Given the description of an element on the screen output the (x, y) to click on. 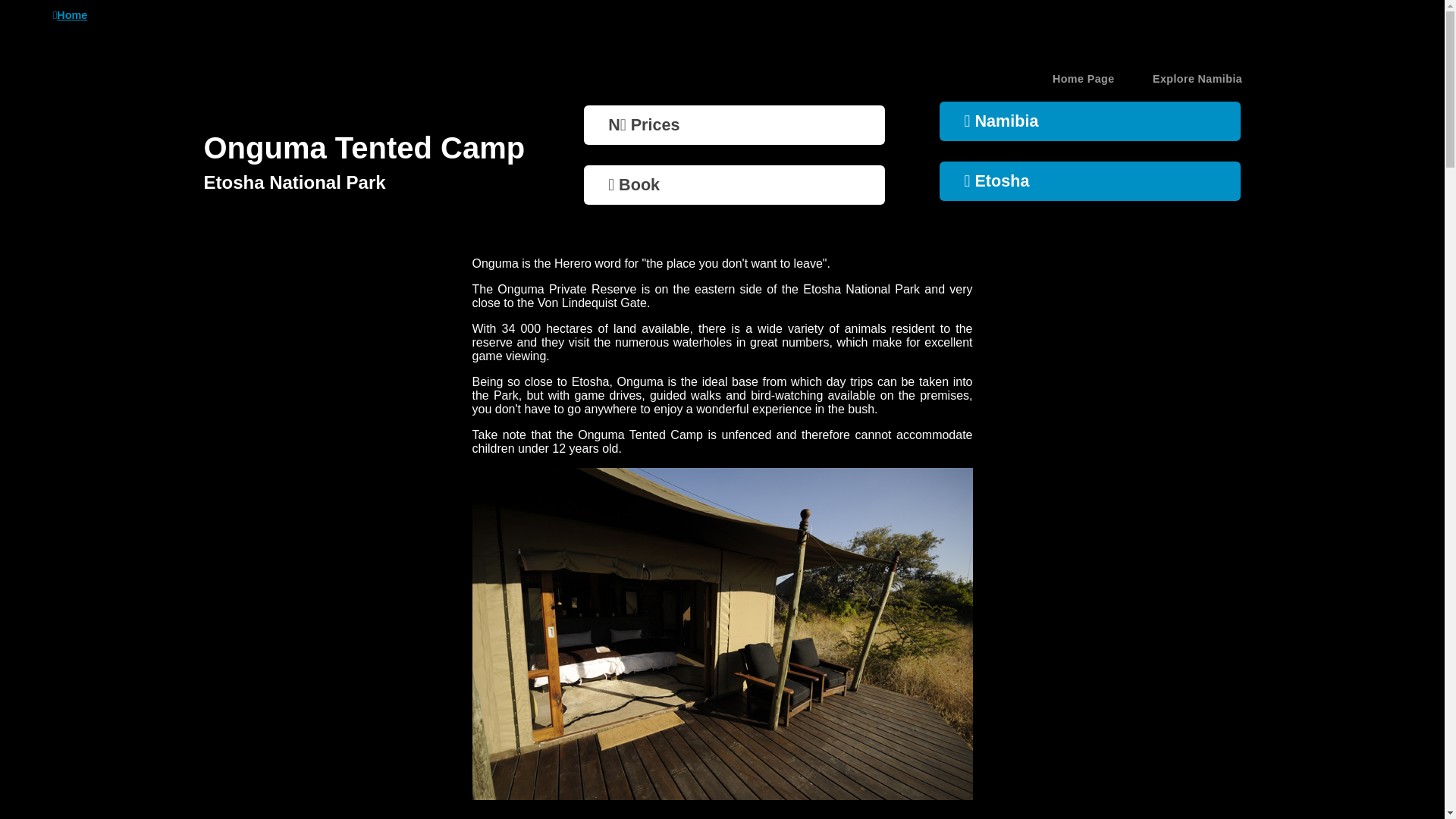
Home Page (1083, 78)
Explore Namibia (1197, 78)
Namibia (1089, 120)
Home (69, 15)
N Prices (734, 124)
Etosha (1089, 180)
Book (734, 184)
